Given the description of an element on the screen output the (x, y) to click on. 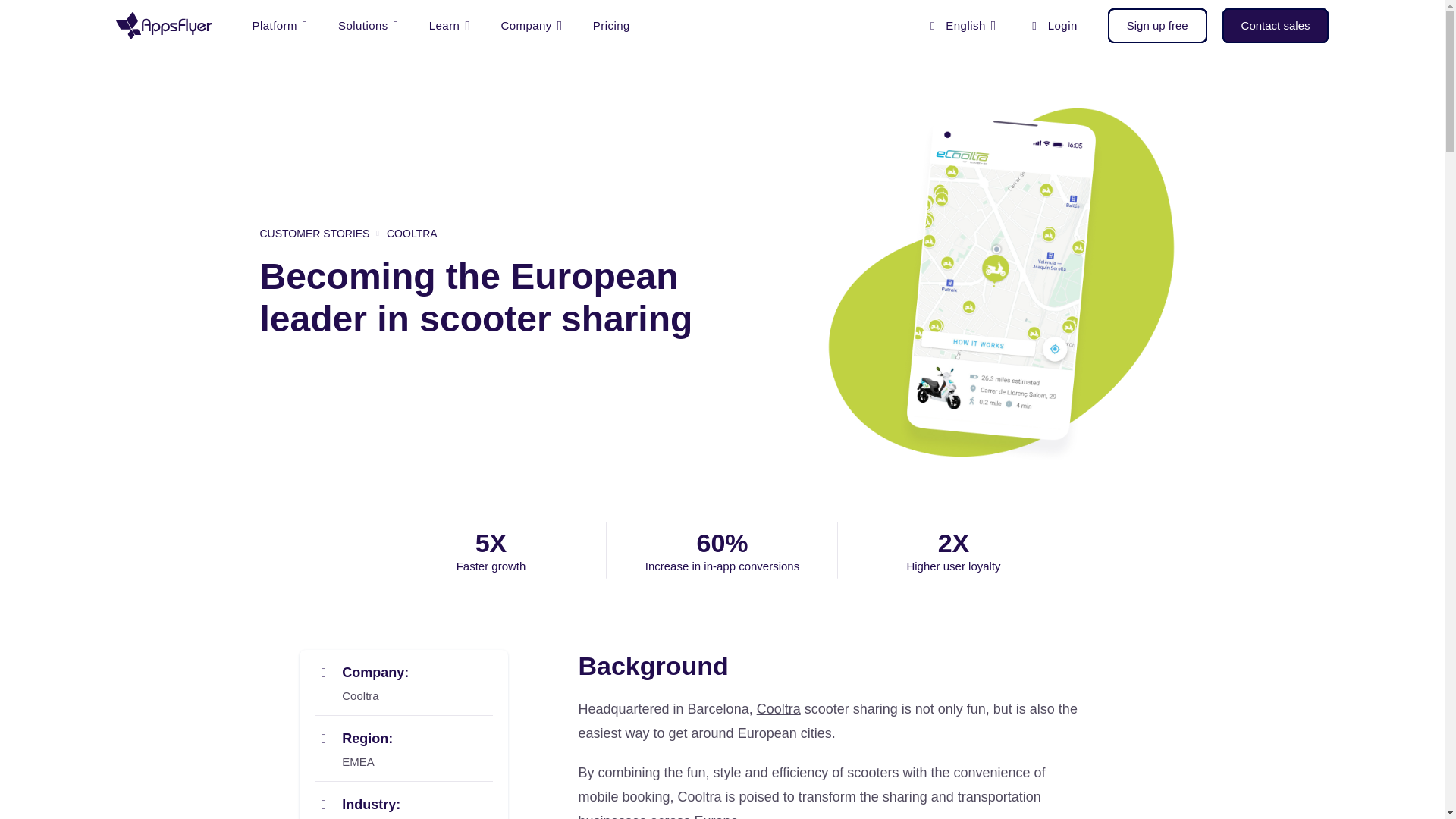
Solutions (368, 25)
Solutions (368, 25)
Platform (278, 25)
Platform (278, 25)
